Given the description of an element on the screen output the (x, y) to click on. 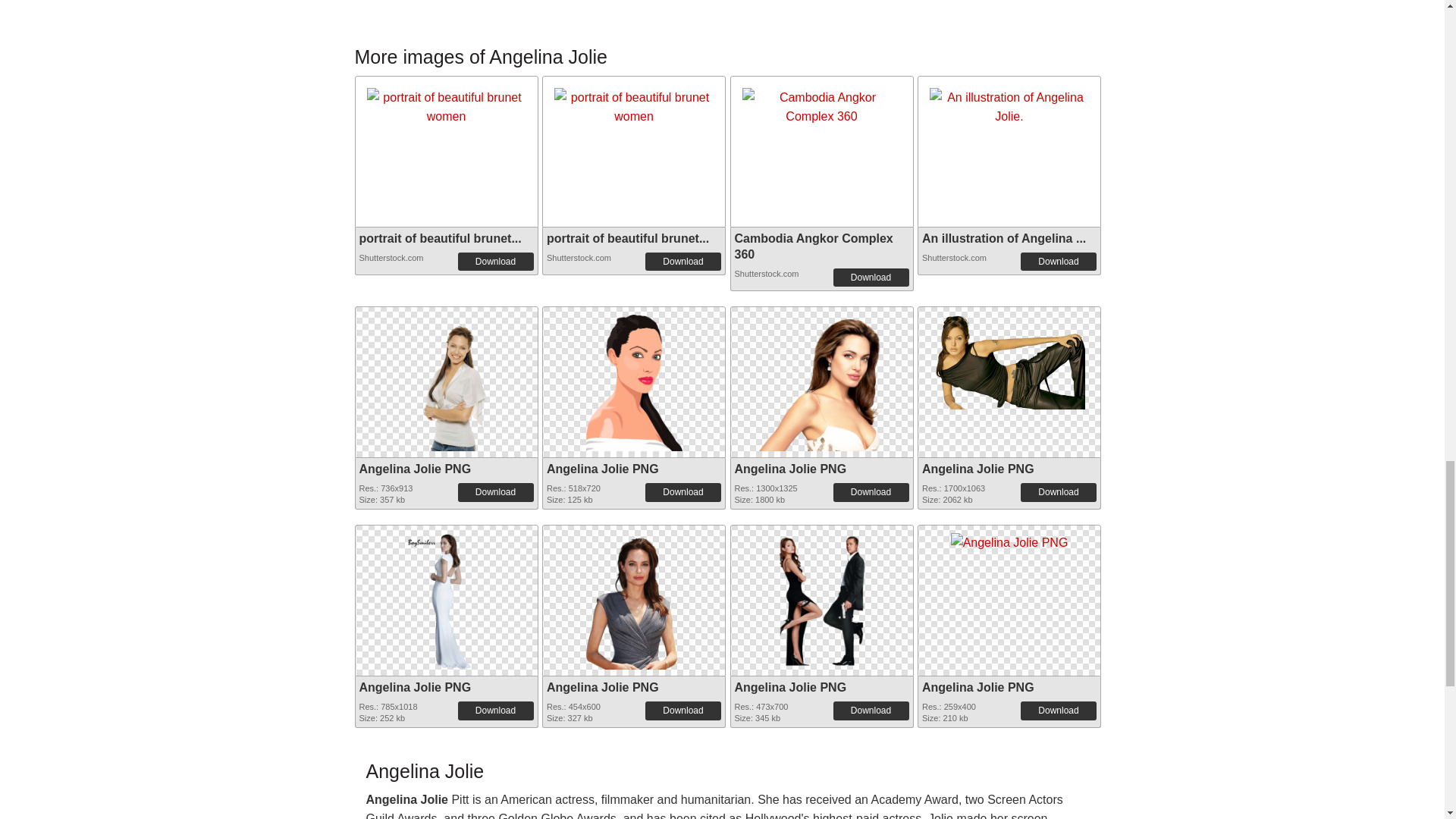
Download (1058, 261)
Angelina Jolie PNG (977, 468)
Download (682, 492)
Angelina Jolie PNG (1008, 357)
Angelina Jolie PNG (603, 468)
Angelina Jolie PNG (415, 468)
Download (1058, 492)
Angelina Jolie PNG (633, 378)
Angelina Jolie PNG (789, 468)
Download (682, 261)
portrait of beautiful brunet... (628, 237)
Download (870, 277)
Angelina Jolie PNG (821, 379)
Cambodia Angkor Complex 360 (821, 106)
Download (496, 492)
